Given the description of an element on the screen output the (x, y) to click on. 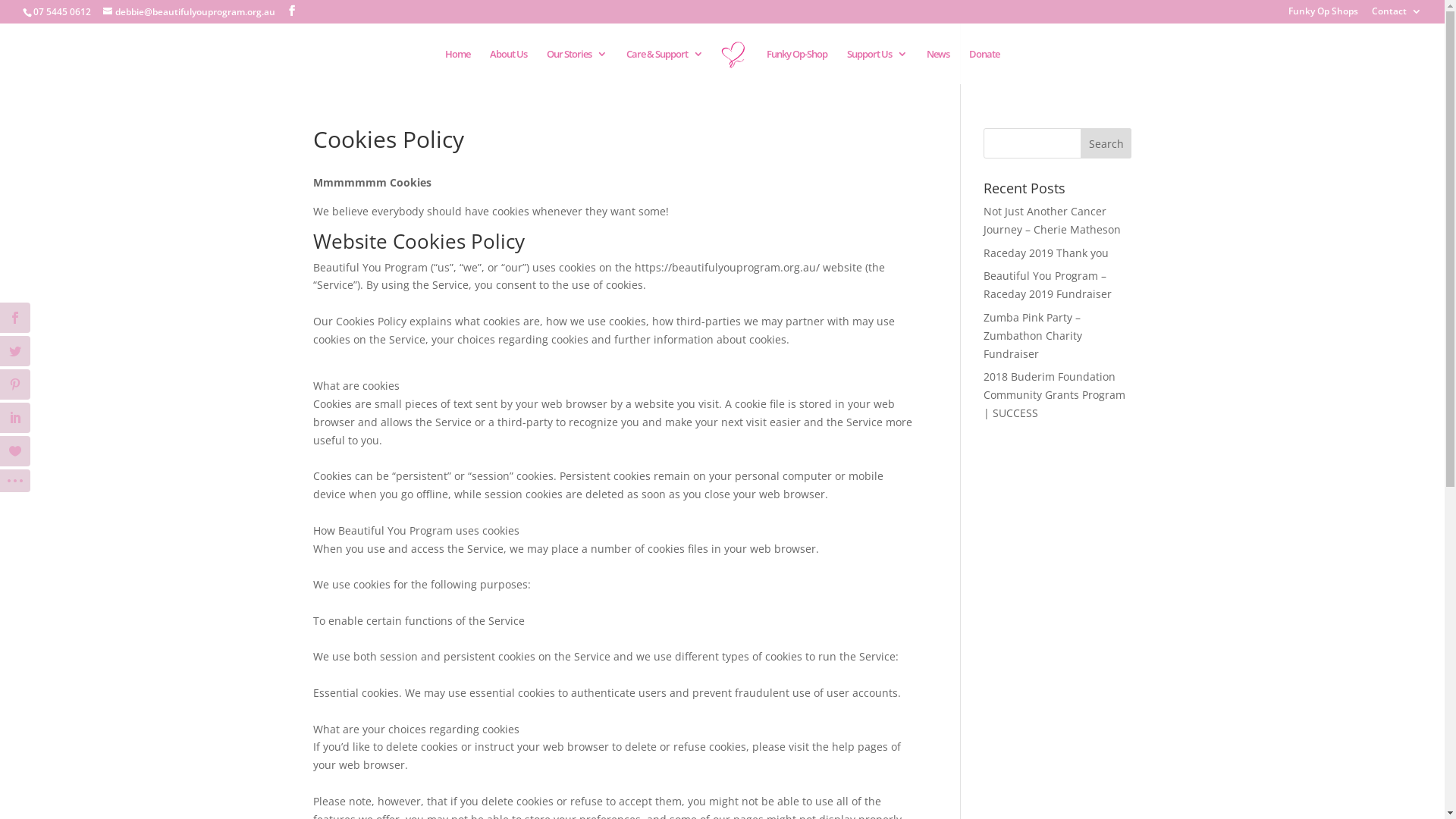
Search Element type: text (1106, 143)
Raceday 2019 Thank you Element type: text (1045, 252)
Home Element type: text (457, 66)
Donate Element type: text (984, 66)
Funky Op-Shop Element type: text (796, 66)
Contact Element type: text (1396, 14)
News Element type: text (937, 66)
debbie@beautifulyouprogram.org.au Element type: text (189, 11)
Funky Op Shops Element type: text (1323, 14)
Our Stories Element type: text (576, 66)
About Us Element type: text (508, 66)
Support Us Element type: text (876, 66)
2018 Buderim Foundation Community Grants Program | SUCCESS Element type: text (1054, 394)
Care & Support Element type: text (664, 66)
